Given the description of an element on the screen output the (x, y) to click on. 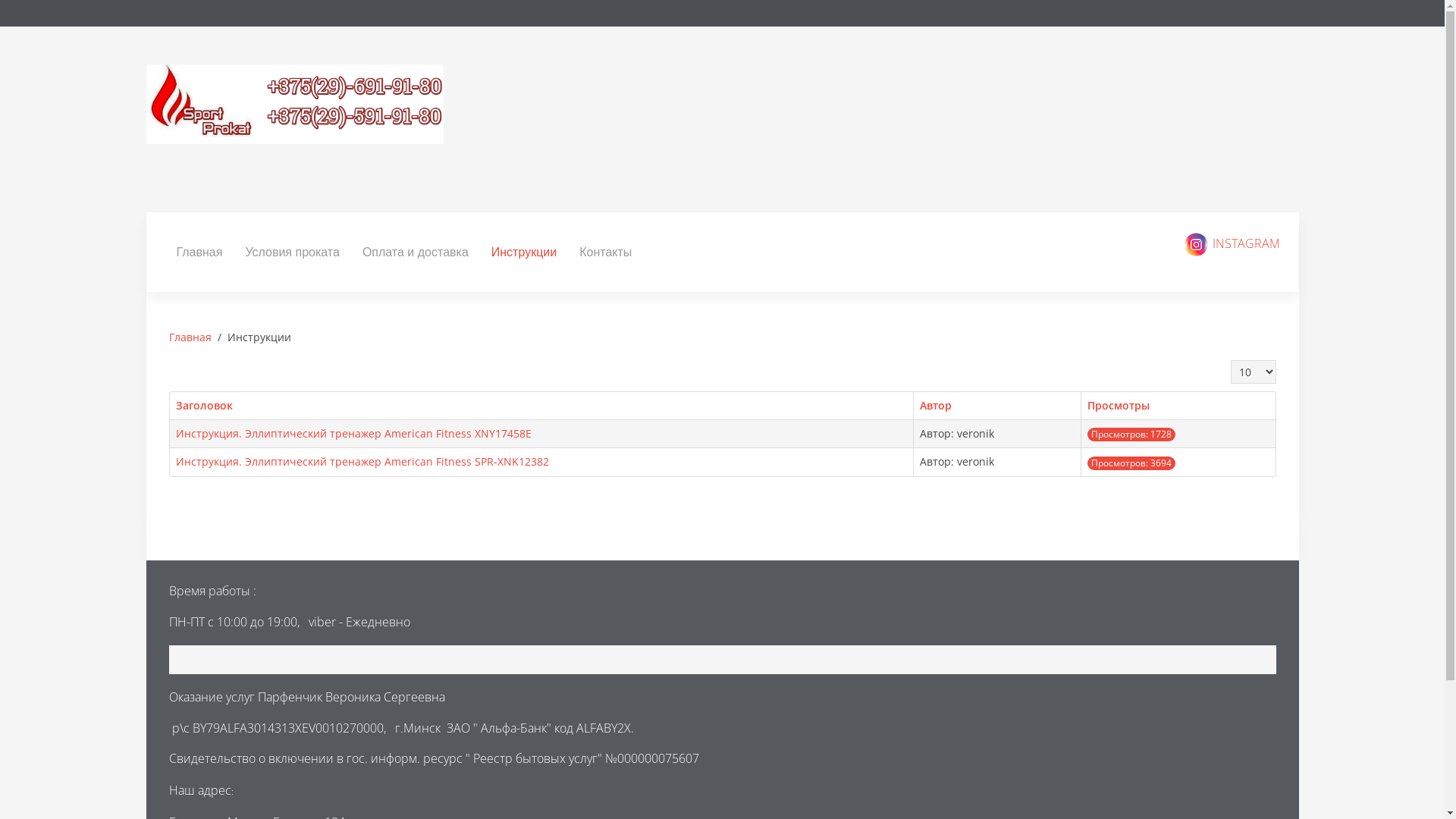
 INSTAGRAM Element type: text (1231, 243)
       Element type: text (721, 119)
